Given the description of an element on the screen output the (x, y) to click on. 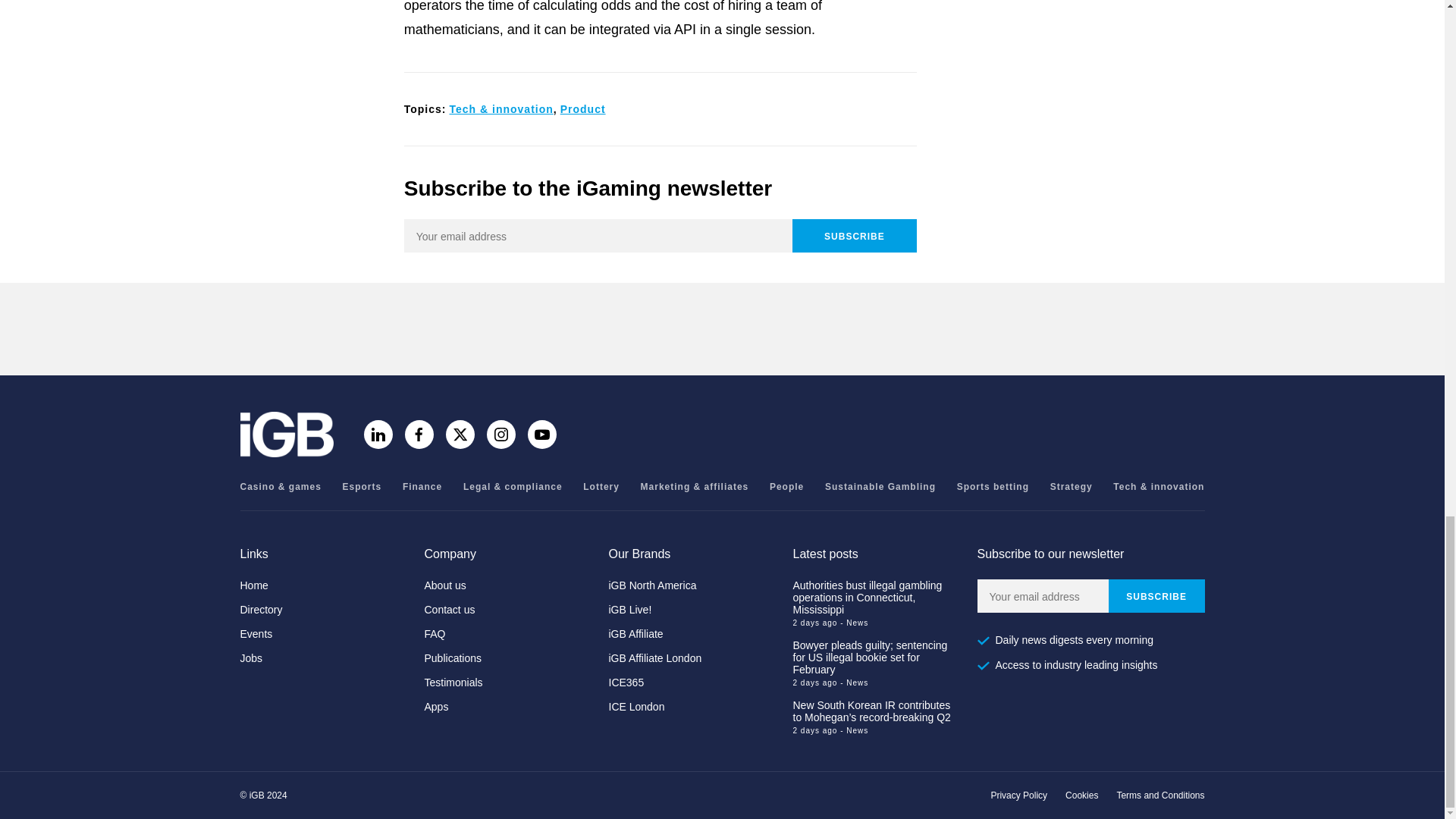
3rd party ad content (721, 328)
Subscribe (1156, 595)
Subscribe (853, 235)
